Given the description of an element on the screen output the (x, y) to click on. 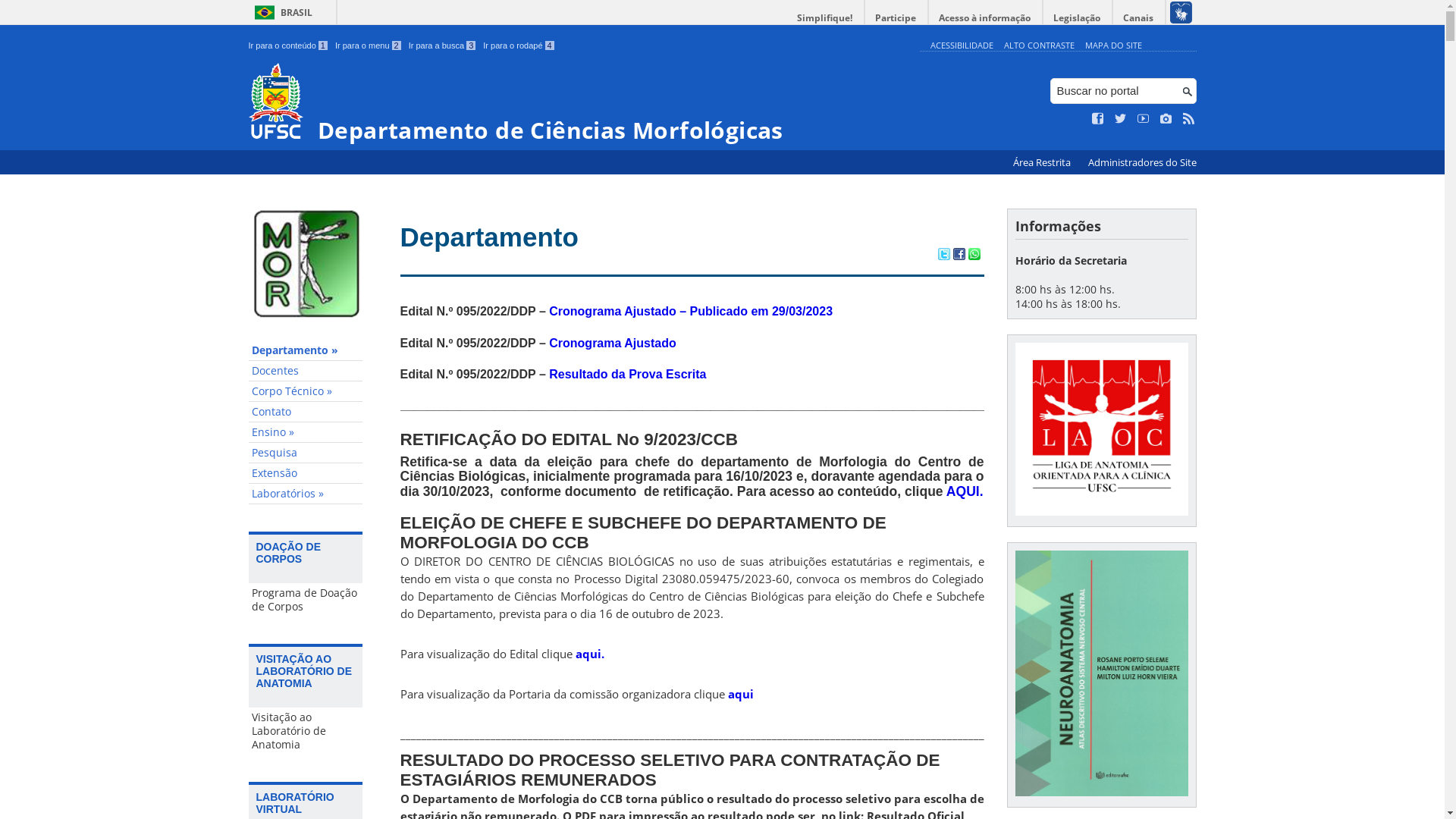
Compartilhar no Twitter Element type: hover (943, 255)
MAPA DO SITE Element type: text (1112, 44)
Pesquisa Element type: text (305, 452)
aqui. Element type: text (588, 653)
Curta no Facebook Element type: hover (1098, 118)
Veja no Instagram Element type: hover (1166, 118)
ACESSIBILIDADE Element type: text (960, 44)
ALTO CONTRASTE Element type: text (1039, 44)
Cronograma Ajustado Element type: text (612, 342)
Simplifique! Element type: text (825, 18)
aqui Element type: text (740, 693)
Compartilhar no WhatsApp Element type: hover (973, 255)
BRASIL Element type: text (280, 12)
Compartilhar no Facebook Element type: hover (958, 255)
Resultado da Prova Escrita Element type: text (627, 373)
Administradores do Site Element type: text (1141, 162)
Ir para a busca 3 Element type: text (442, 45)
Participe Element type: text (895, 18)
Ir para o menu 2 Element type: text (368, 45)
Canais Element type: text (1138, 18)
Docentes Element type: text (305, 370)
Siga no Twitter Element type: hover (1120, 118)
Departamento Element type: text (489, 236)
Contato Element type: text (305, 411)
AQUI. Element type: text (964, 490)
